Given the description of an element on the screen output the (x, y) to click on. 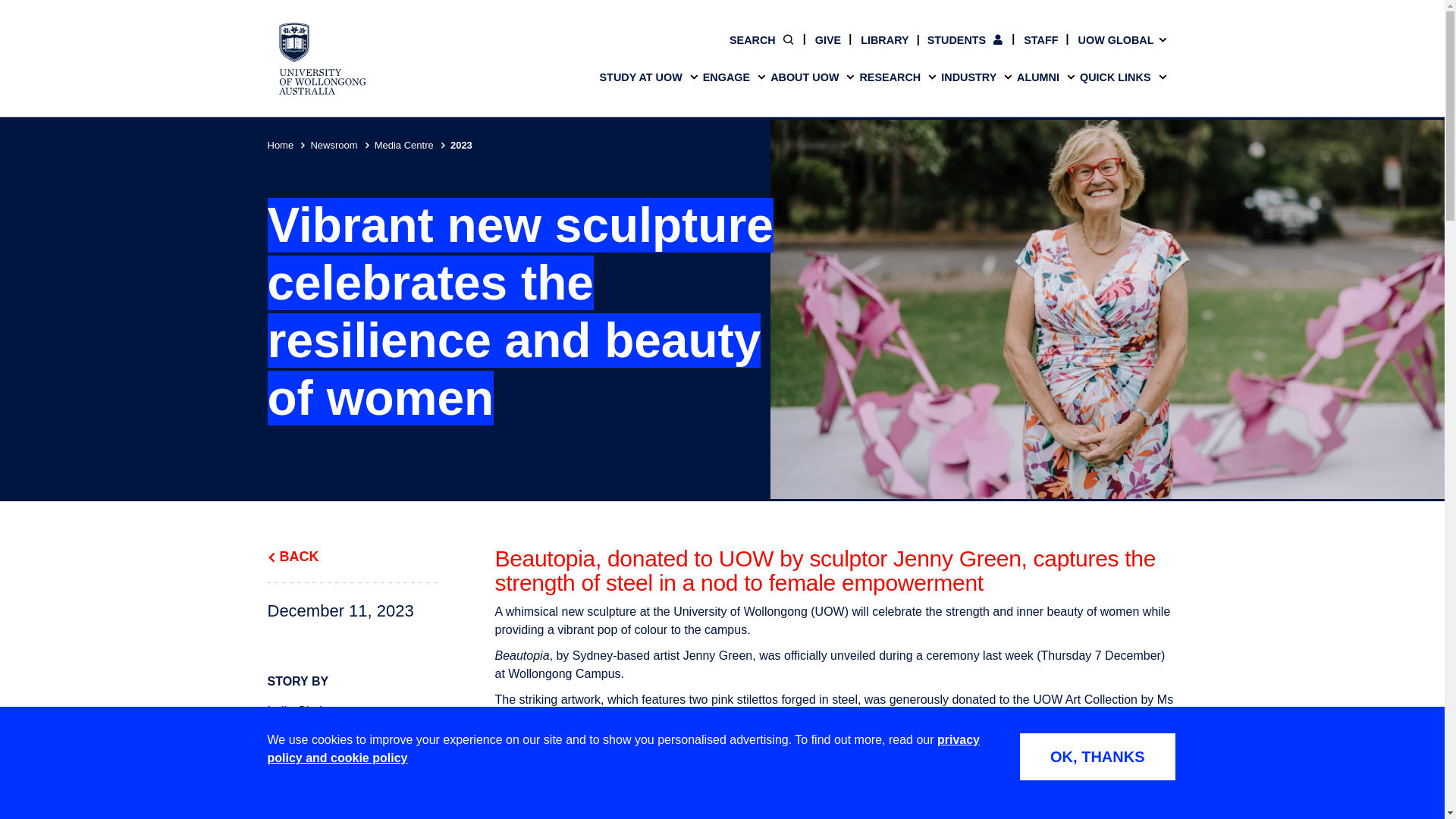
UOW GLOBAL (1112, 39)
POSTGRADUATE STUDENTS (835, 7)
MOVING TO WOLLONGONG (835, 27)
SEARCH (761, 39)
STAFF (1031, 39)
BACK (352, 557)
STUDY AT UOW (721, 77)
GIVE (817, 39)
Privacy policy and cookie policy (622, 748)
OK, THANKS (1096, 756)
HIGH SCHOOL STUDENTS (380, 7)
LIBRARY (874, 39)
privacy policy and cookie policy (622, 748)
ACCOMMODATION (608, 27)
